Given the description of an element on the screen output the (x, y) to click on. 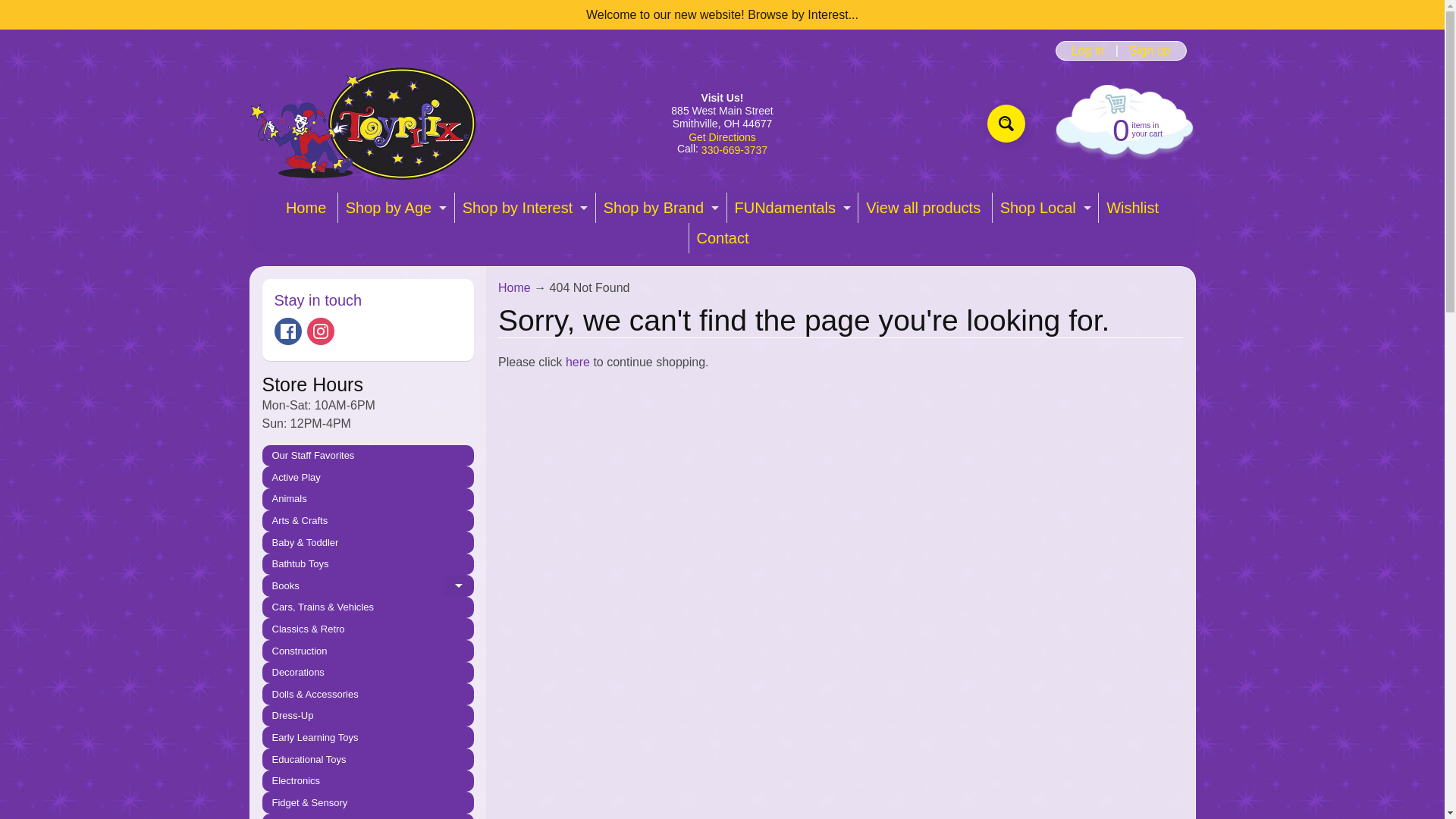
Skip to content (22, 8)
Sign up (1149, 50)
Facebook (393, 207)
Search (288, 330)
Search (1006, 123)
Instagram (658, 207)
tel:330-669-3737 (1122, 128)
330-669-3737 (790, 207)
Back to the home page (1006, 123)
Get Directions (320, 330)
Welcome to our new website! Browse by Interest... (734, 149)
